Given the description of an element on the screen output the (x, y) to click on. 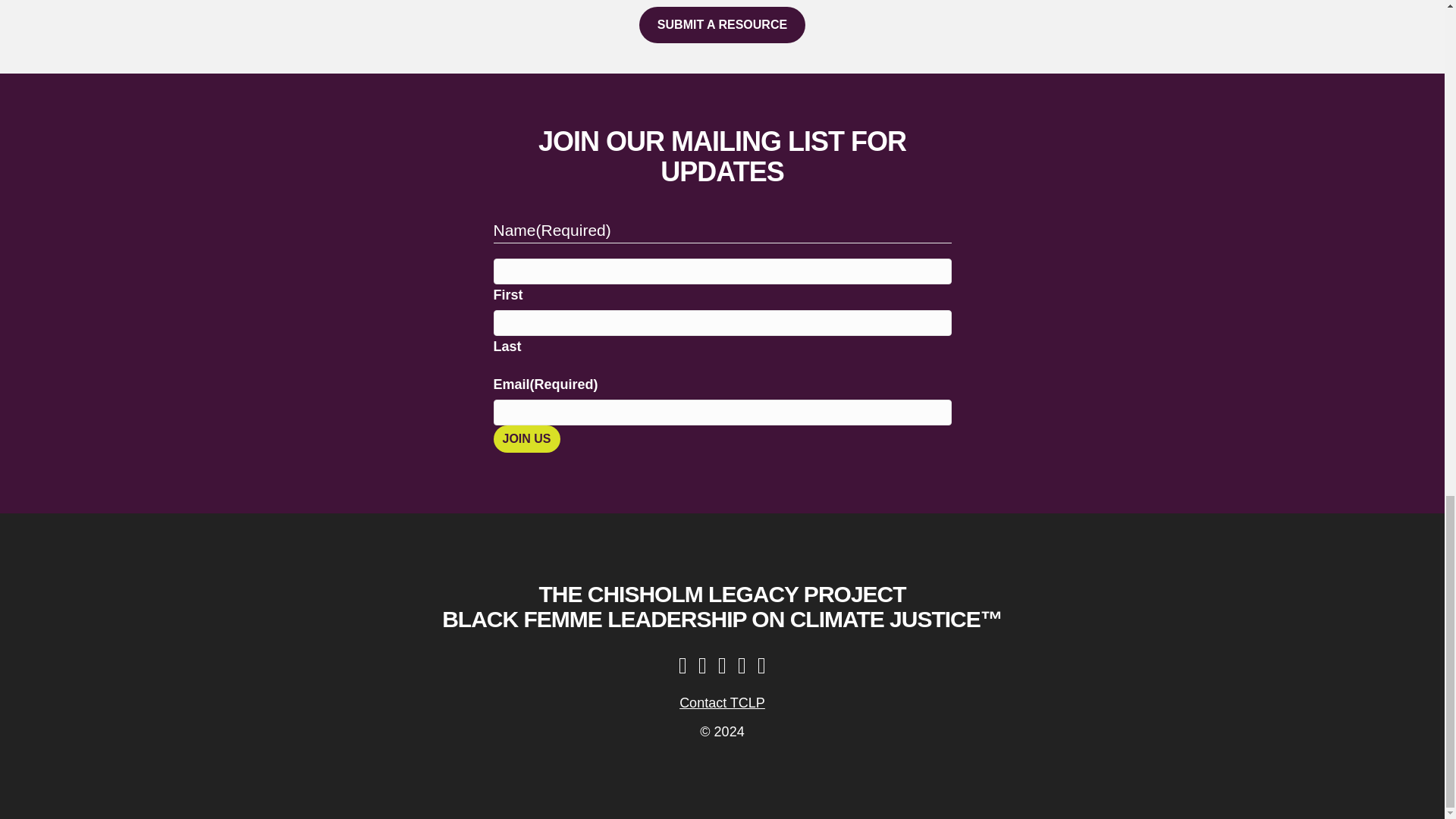
Join Us (526, 438)
